Given the description of an element on the screen output the (x, y) to click on. 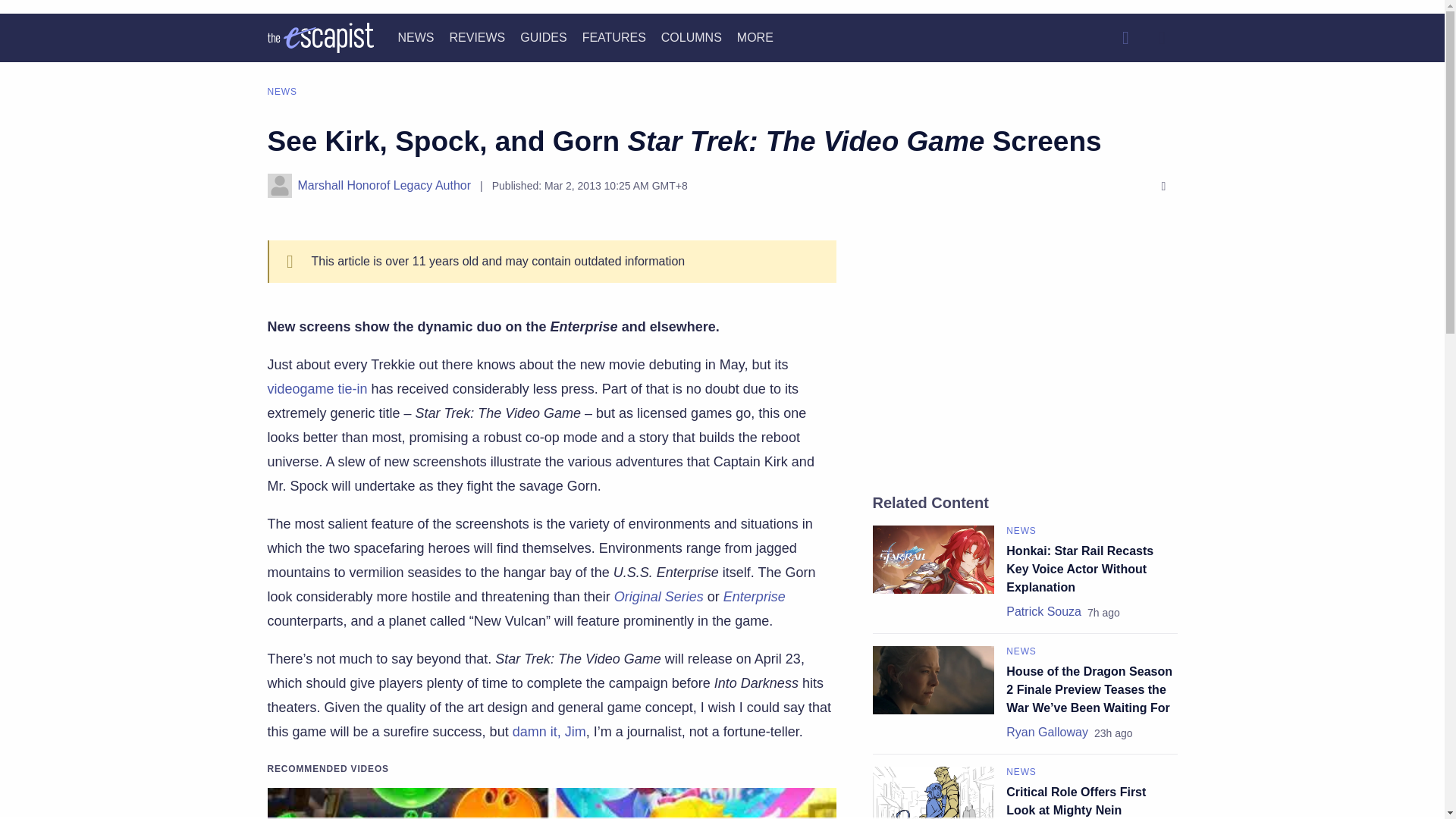
FEATURES (614, 37)
NEWS (415, 37)
REVIEWS (476, 37)
GUIDES (542, 37)
Dark Mode (1161, 37)
Search (1124, 37)
COLUMNS (691, 37)
